Given the description of an element on the screen output the (x, y) to click on. 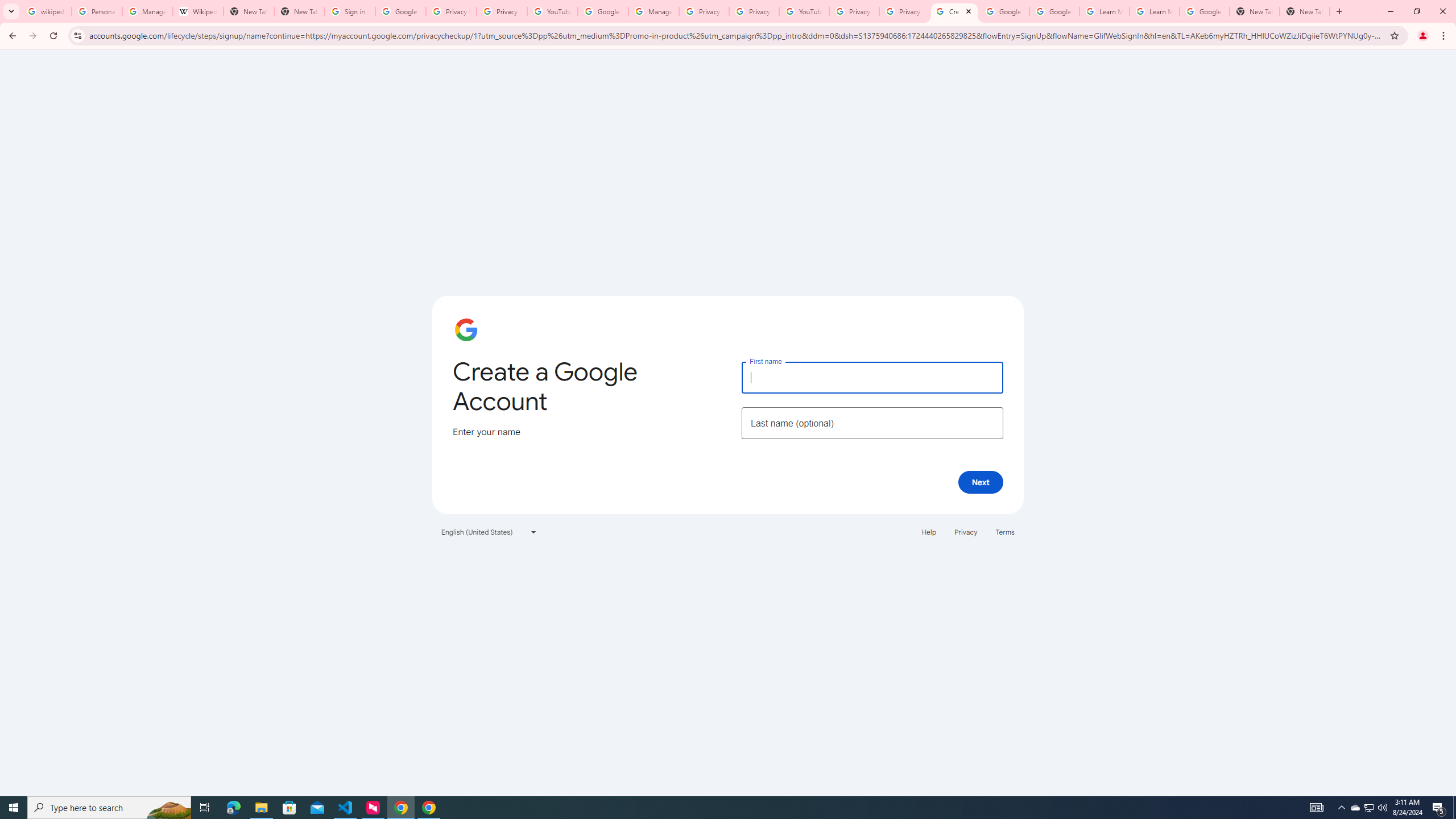
English (United States) (489, 531)
